Given the description of an element on the screen output the (x, y) to click on. 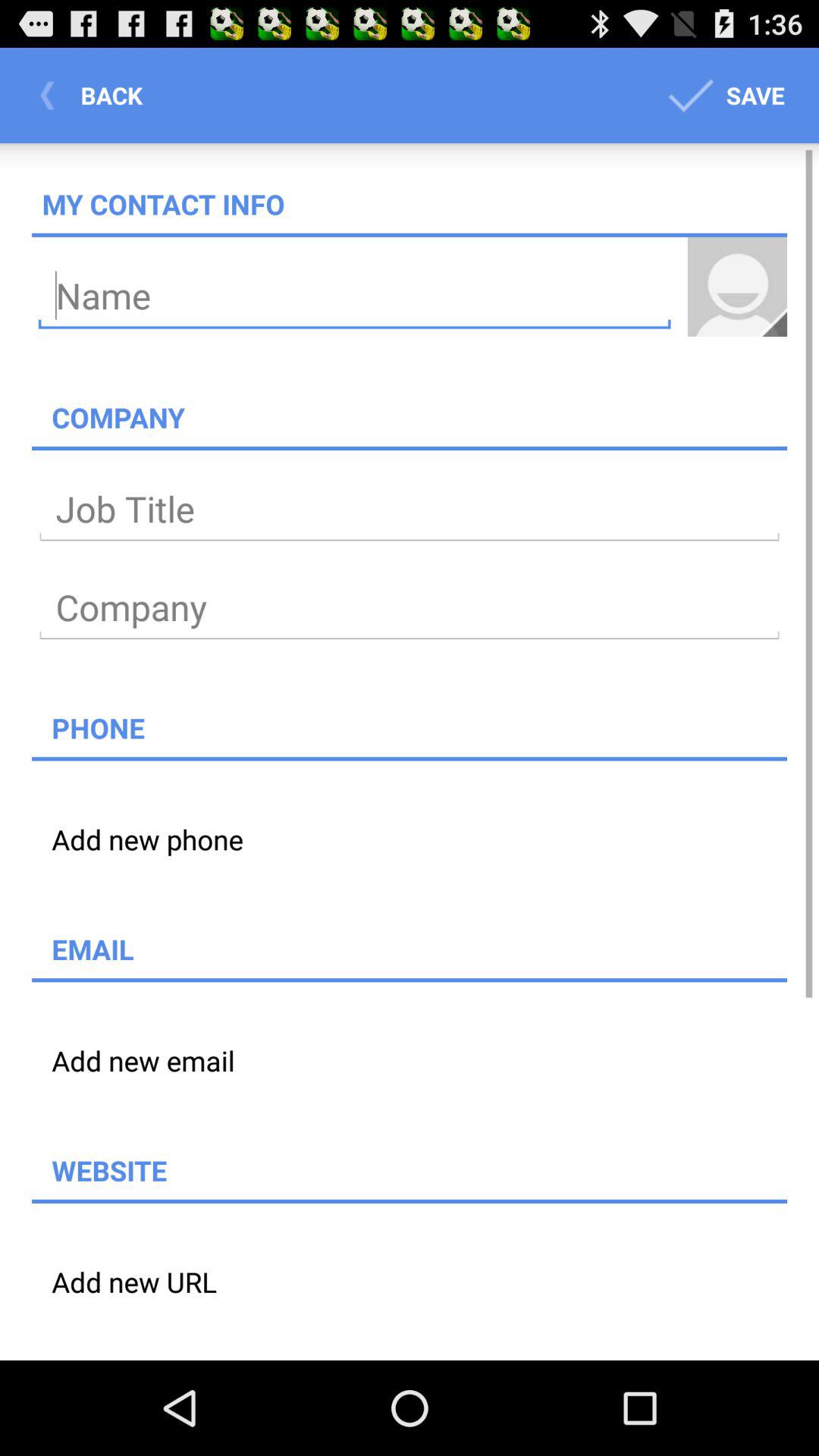
add text add job title type in job title (409, 509)
